Given the description of an element on the screen output the (x, y) to click on. 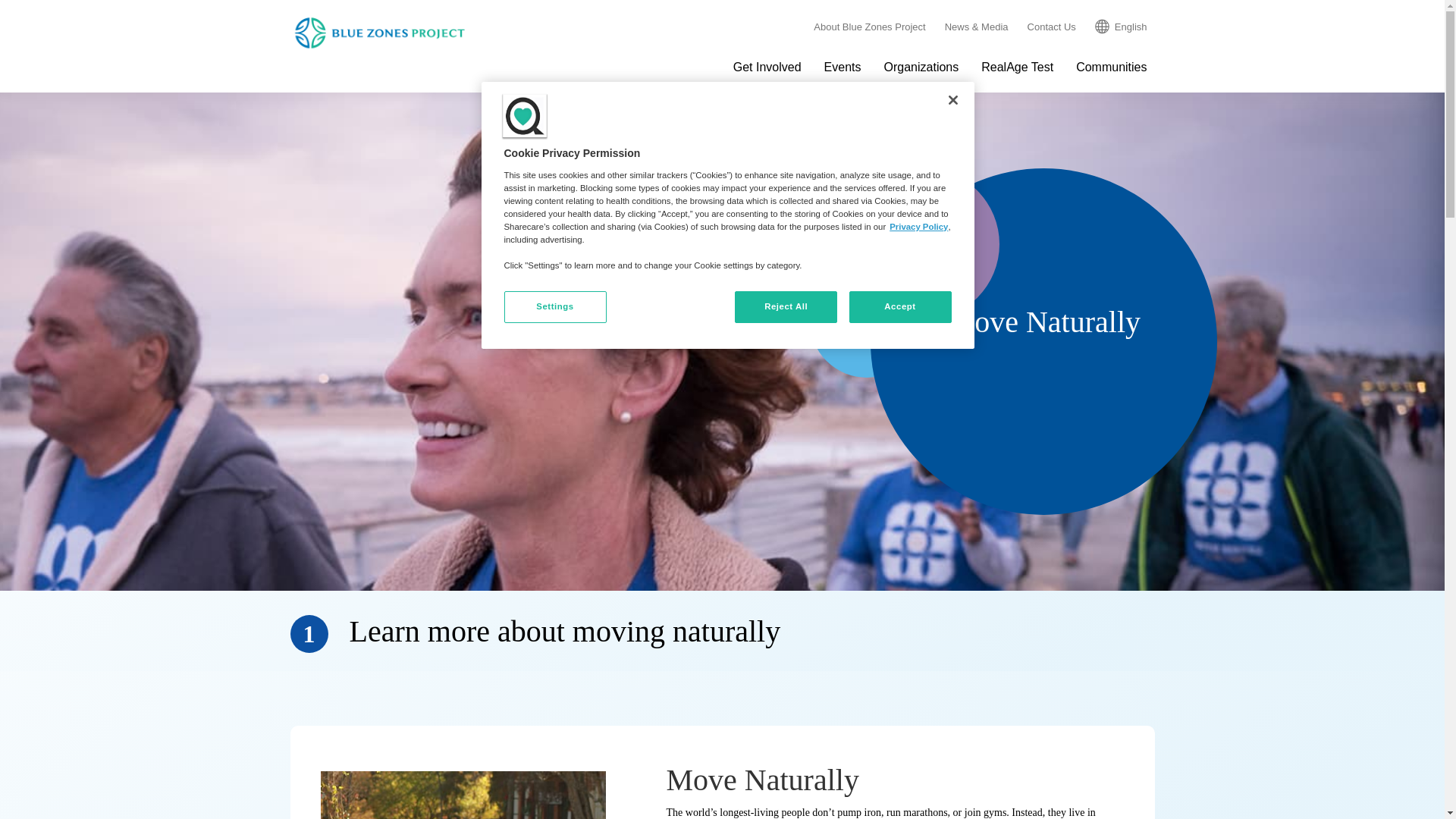
Organizations (919, 67)
English (1120, 24)
Company Logo (524, 116)
English (1120, 24)
Get Involved (765, 67)
Communities (1109, 67)
Contact Us (1051, 26)
About Blue Zones Project (869, 26)
RealAge Test (1015, 67)
Events (840, 67)
